Given the description of an element on the screen output the (x, y) to click on. 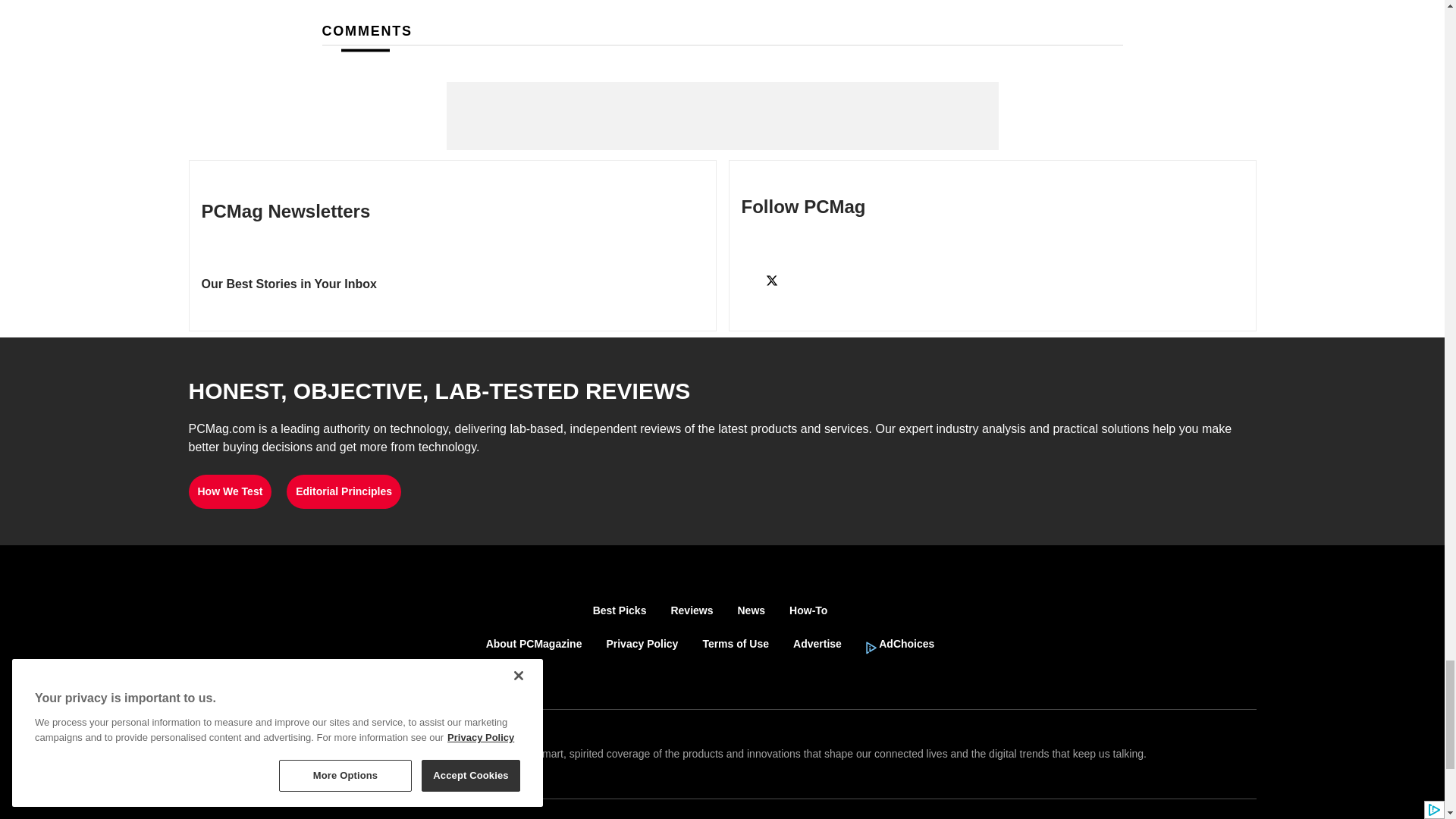
3rd party ad content (721, 115)
